Given the description of an element on the screen output the (x, y) to click on. 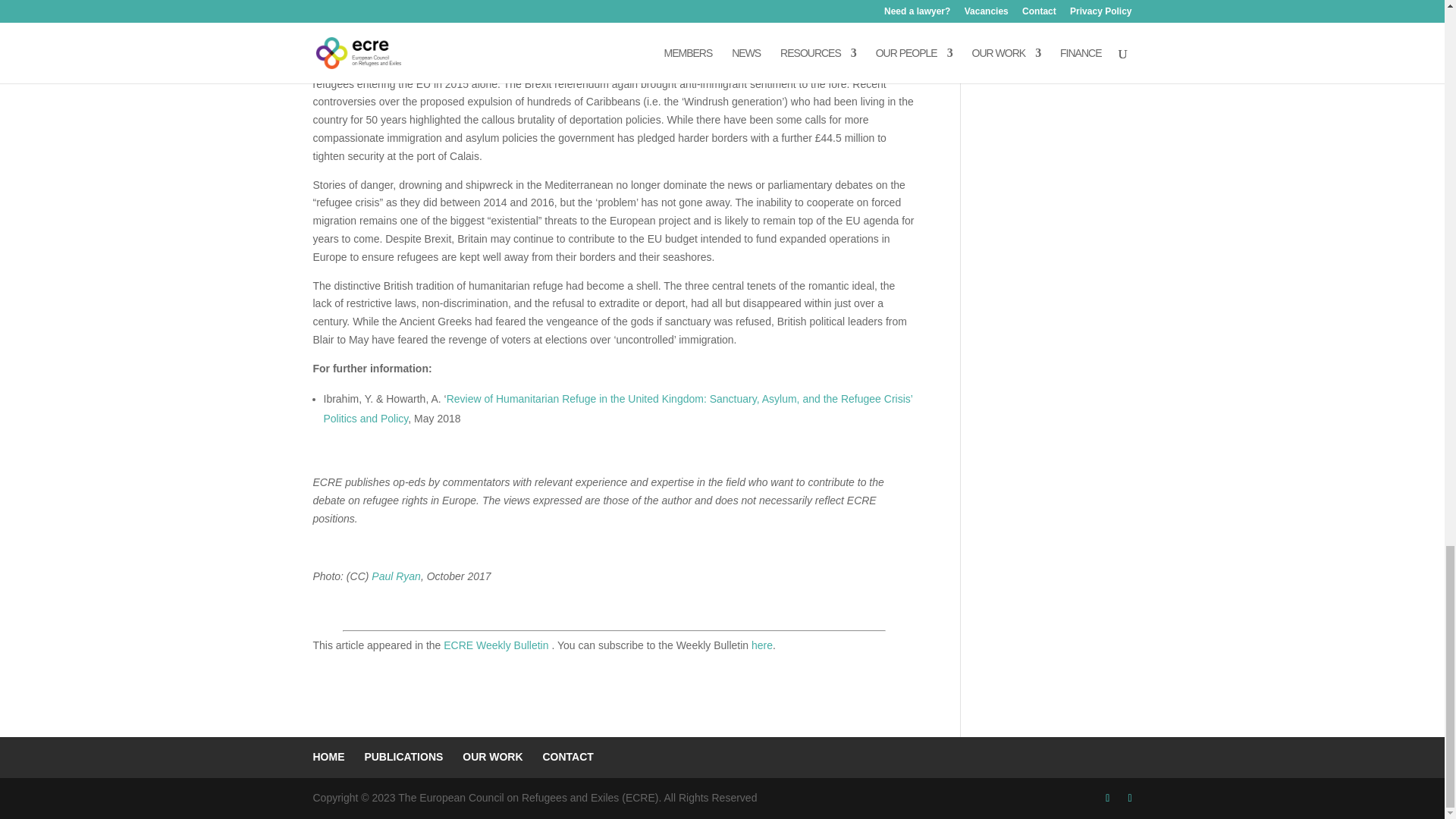
Paul Ryan (395, 576)
OUR WORK (492, 756)
ECRE Weekly Bulletin (497, 645)
here (762, 645)
CONTACT (566, 756)
PUBLICATIONS (403, 756)
HOME (328, 756)
Go to Paul Ryan's photostream (395, 576)
